Given the description of an element on the screen output the (x, y) to click on. 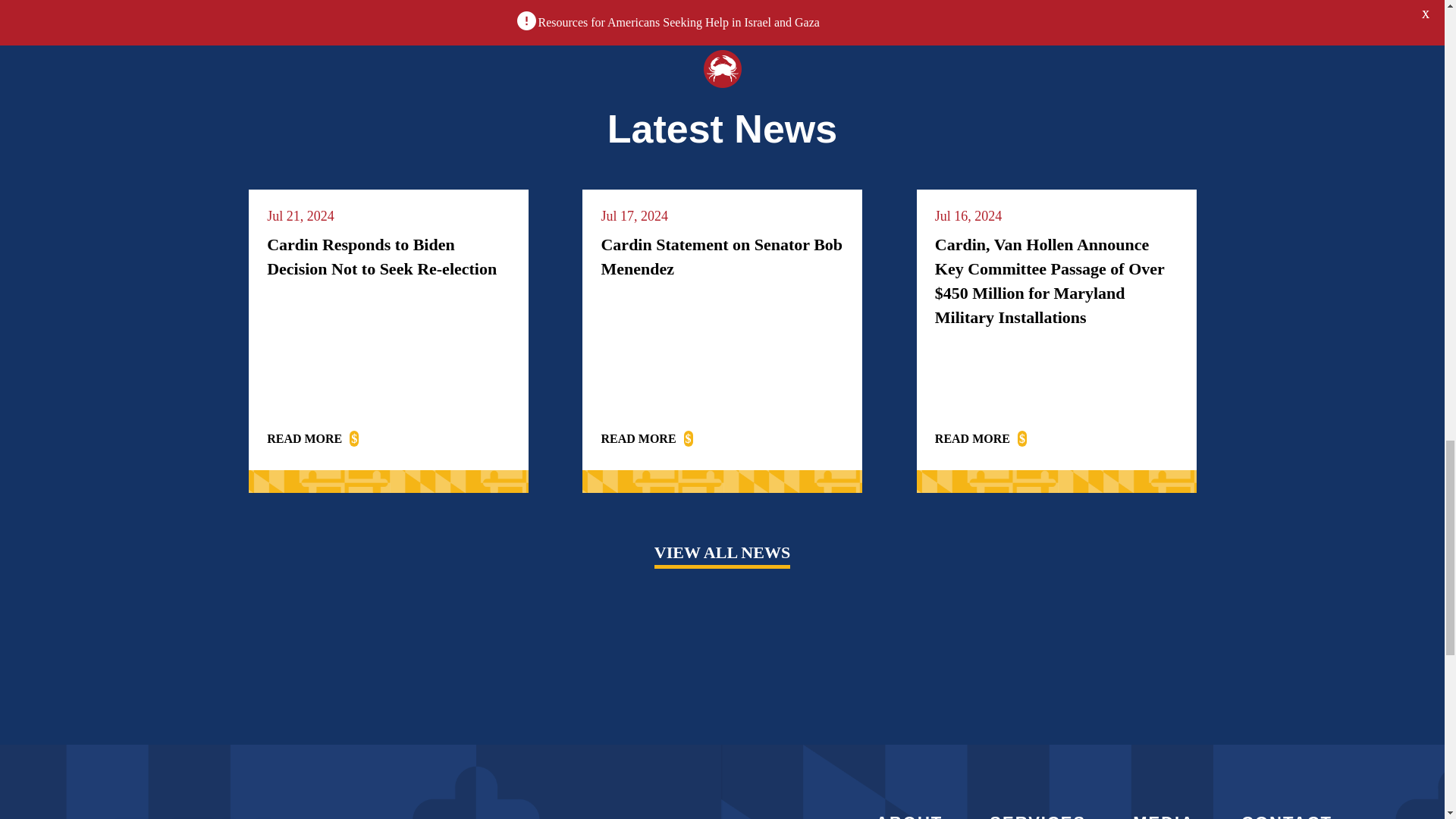
Crab (722, 68)
Footer (326, 812)
